Given the description of an element on the screen output the (x, y) to click on. 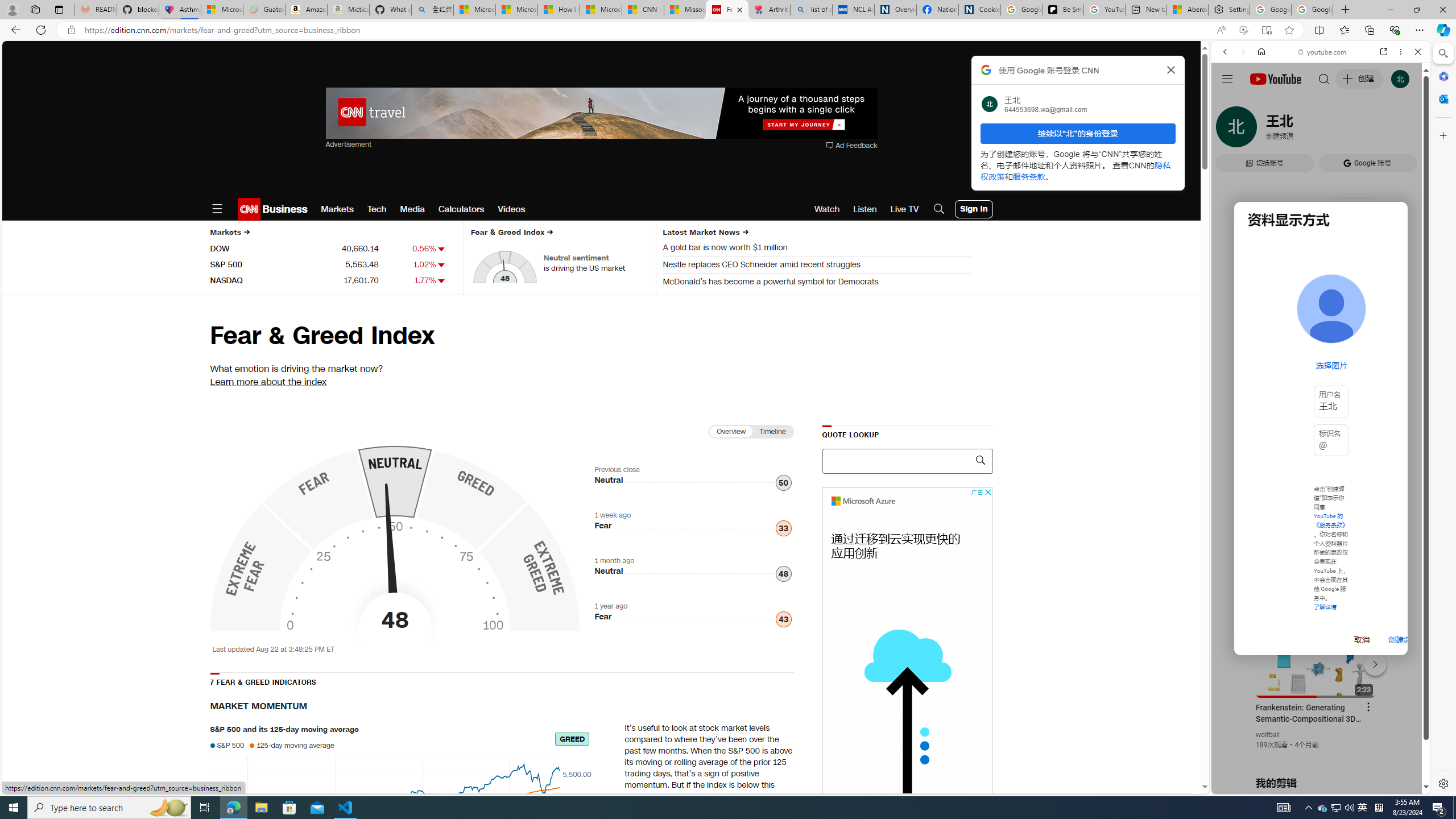
wolfball (1268, 734)
Markets (336, 209)
Live TV (903, 208)
youtube.com (1322, 51)
Class: market-fng-gauge__hand-svg (390, 555)
Business (283, 209)
Trailer #2 [HD] (1320, 337)
Google (1266, 331)
